Given the description of an element on the screen output the (x, y) to click on. 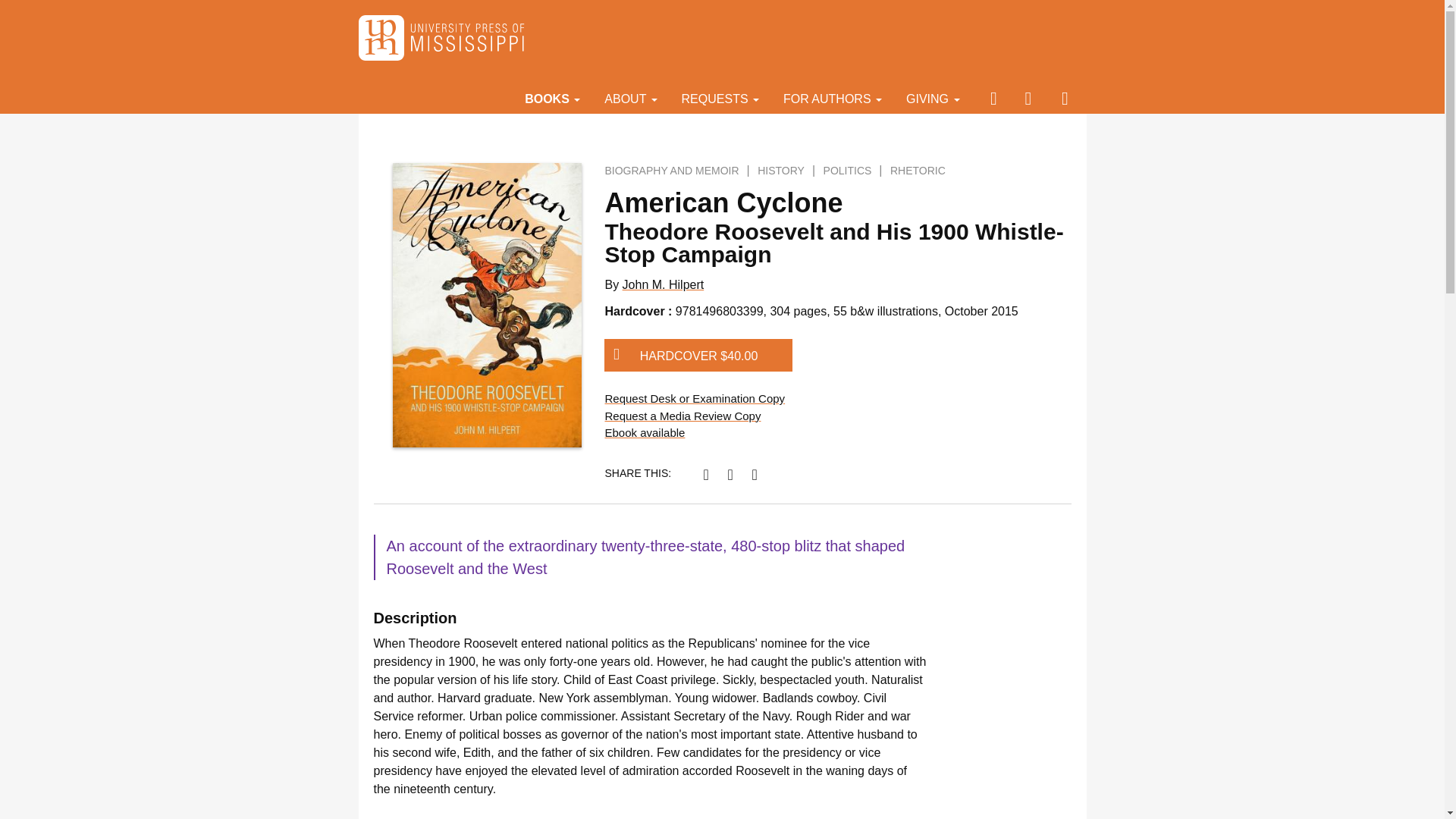
ABOUT (630, 97)
REQUESTS (720, 97)
FOR AUTHORS (832, 97)
BOOKS (552, 97)
